Given the description of an element on the screen output the (x, y) to click on. 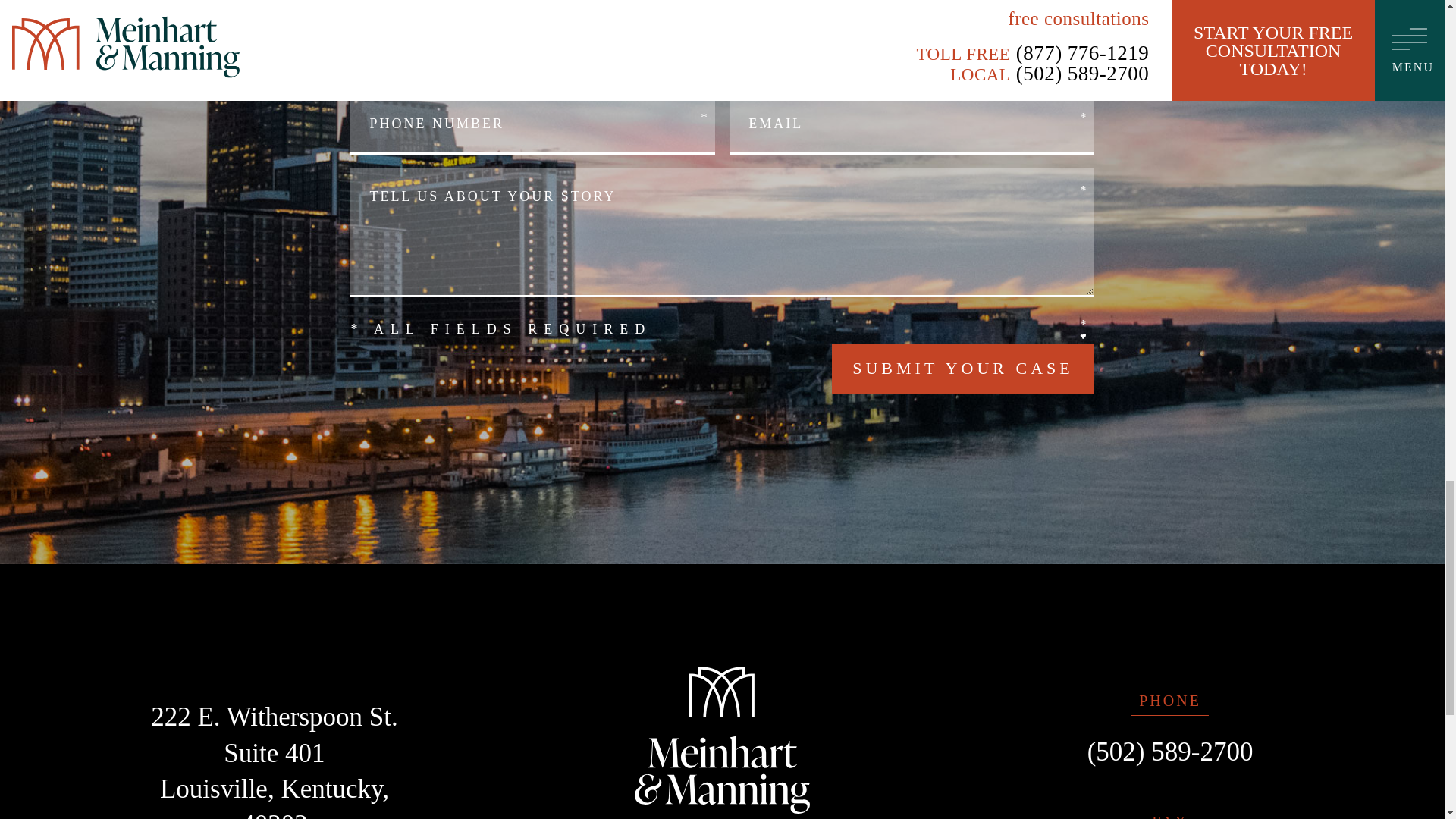
Submit Your Case (962, 368)
